Given the description of an element on the screen output the (x, y) to click on. 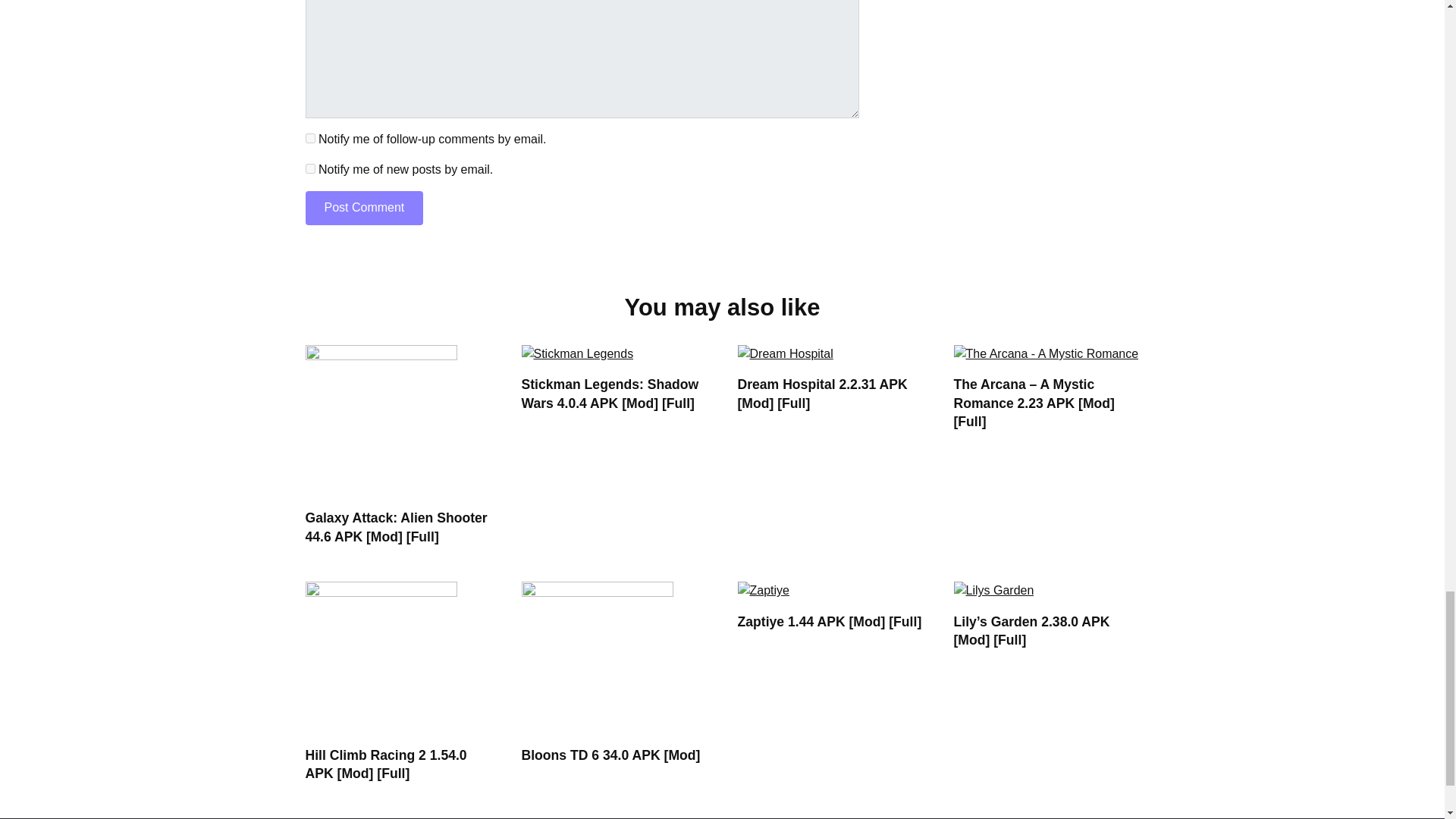
subscribe (309, 138)
subscribe (309, 168)
Post Comment (363, 207)
